Given the description of an element on the screen output the (x, y) to click on. 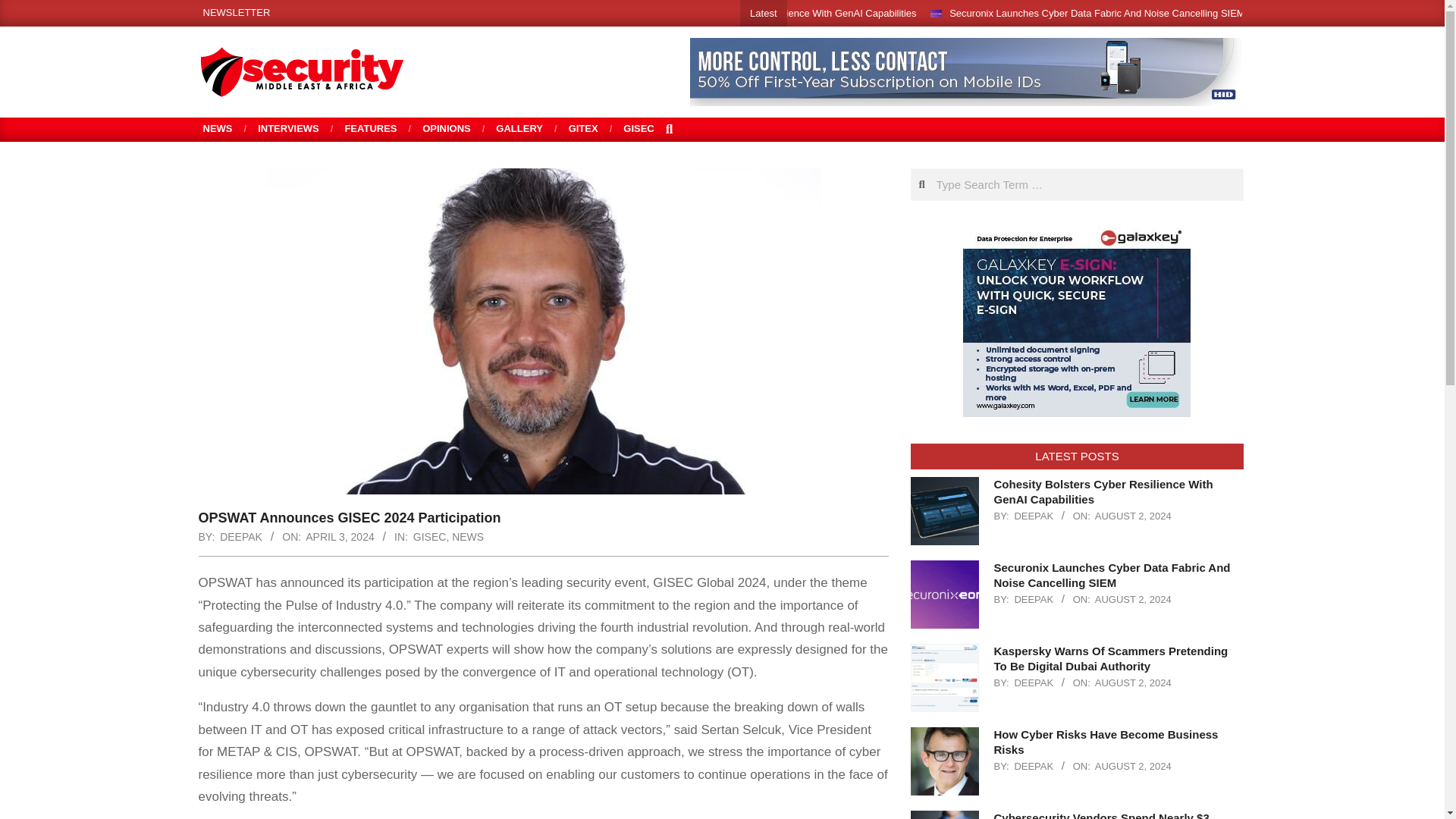
Posts by Deepak (1032, 599)
Posts by Deepak (240, 536)
NEWSLETTER (236, 12)
Wednesday, April 3, 2024, 1:48 pm (339, 536)
Posts by Deepak (1032, 682)
Friday, August 2, 2024, 11:58 am (1133, 682)
Posts by Deepak (1032, 515)
Friday, August 2, 2024, 11:28 am (1133, 766)
Cohesity Bolsters Cyber Resilience With GenAI Capabilities (786, 12)
Friday, August 2, 2024, 4:12 pm (1133, 515)
Posts by Deepak (1032, 766)
Friday, August 2, 2024, 2:27 pm (1133, 599)
